Given the description of an element on the screen output the (x, y) to click on. 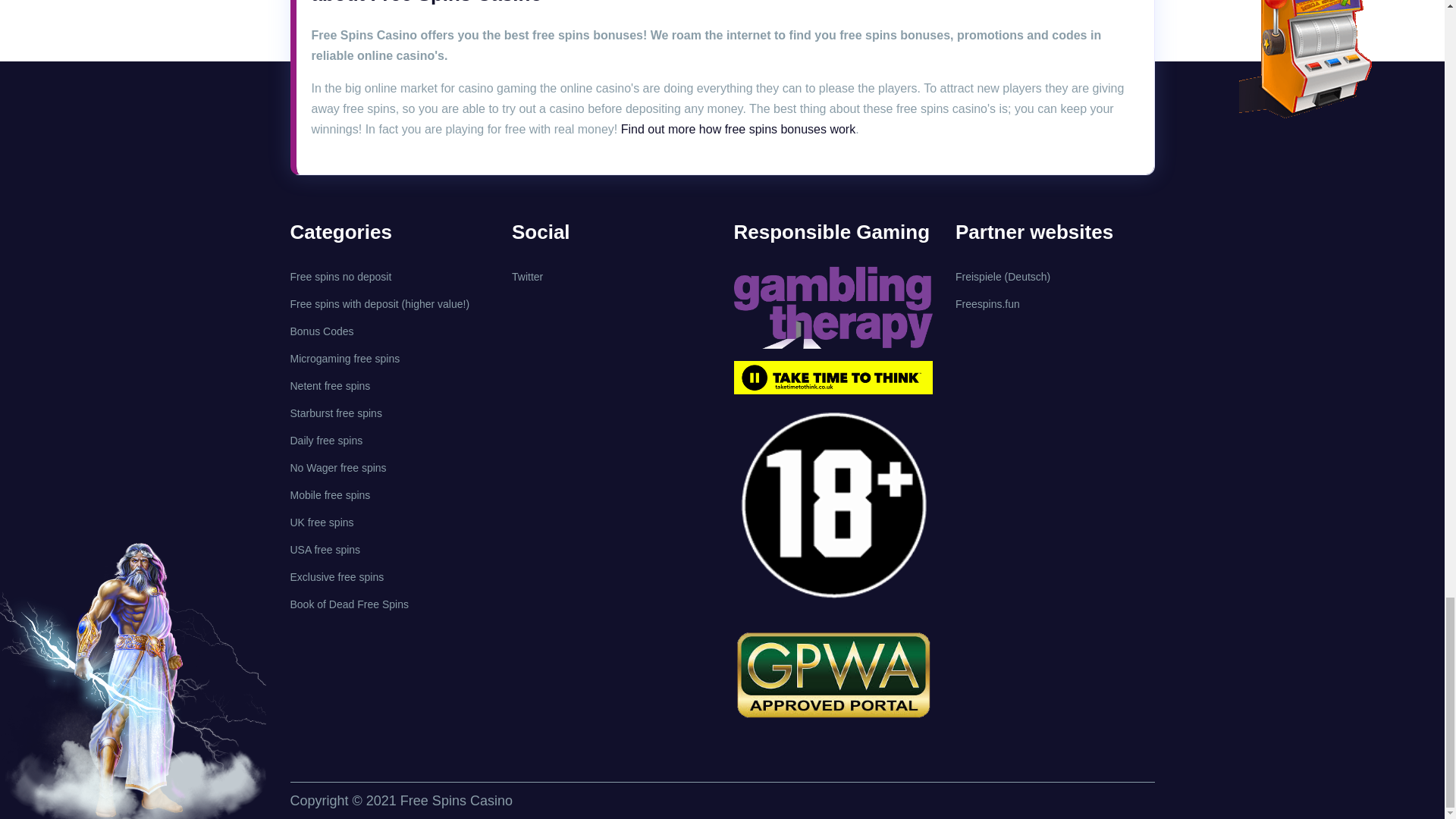
No Wager free spins (337, 467)
Daily free spins (325, 440)
Find out more how free spins bonuses work (738, 128)
Free spins no deposit (340, 276)
Bonus Codes (321, 331)
Mobile free spins (329, 494)
Free spins with deposit (343, 304)
Exclusive free spins (336, 576)
USA free spins (324, 549)
Netent free spins (329, 386)
UK free spins (321, 522)
Microgaming free spins (343, 358)
Starburst free spins (335, 413)
Book of Dead Free Spins (348, 604)
Twitter (527, 276)
